Given the description of an element on the screen output the (x, y) to click on. 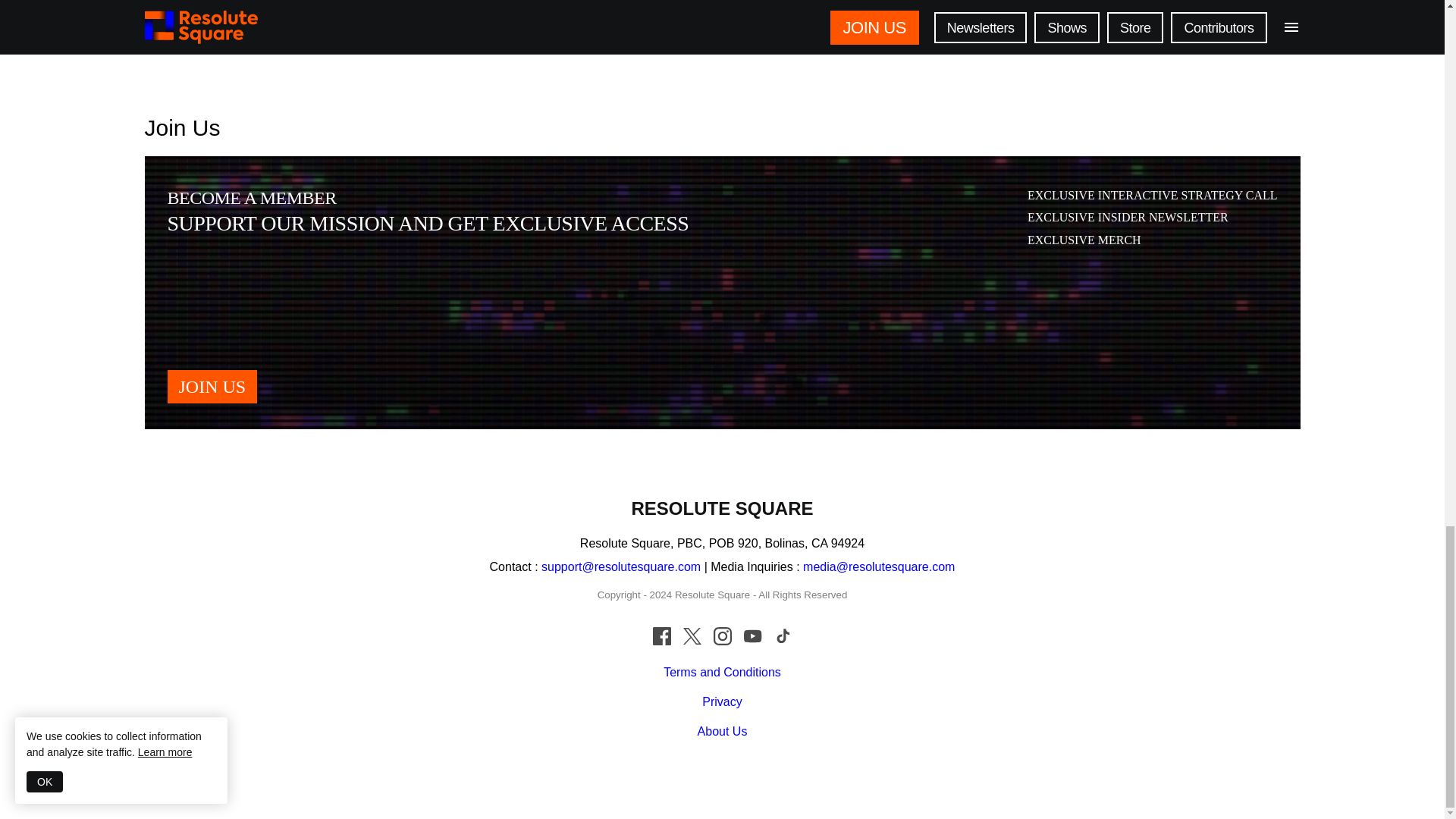
Republican Party (781, 17)
Ted Cruz (924, 17)
Donald Trump (861, 17)
